Given the description of an element on the screen output the (x, y) to click on. 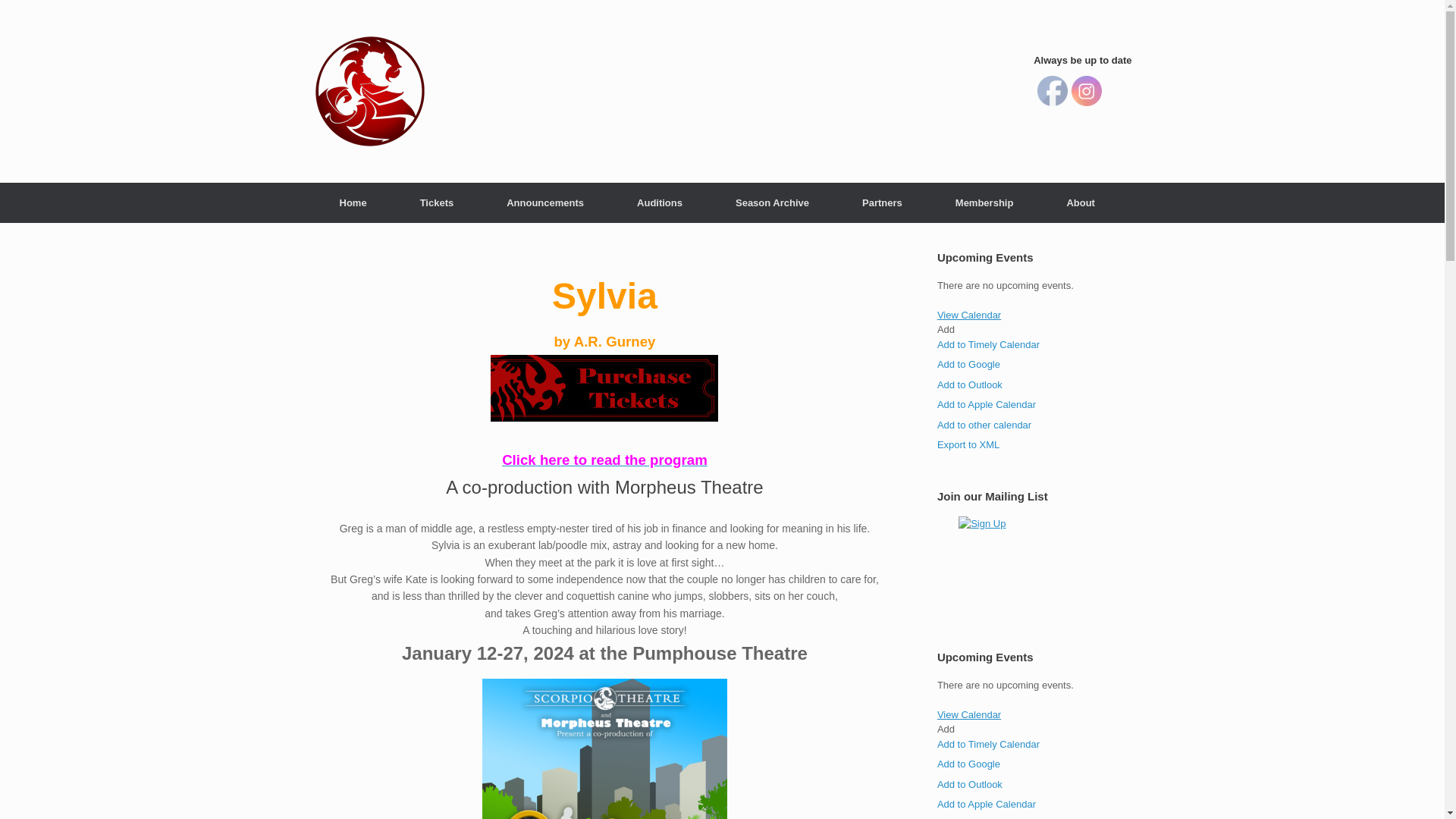
Subscribe to this calendar in another plain-text calendar (983, 423)
Add to Outlook (970, 384)
Facebook (1051, 91)
Add to Timely Calendar (988, 343)
Auditions (659, 202)
Subscribe to this calendar in MS Outlook (970, 384)
Add to Google (968, 763)
Announcements (545, 202)
